Given the description of an element on the screen output the (x, y) to click on. 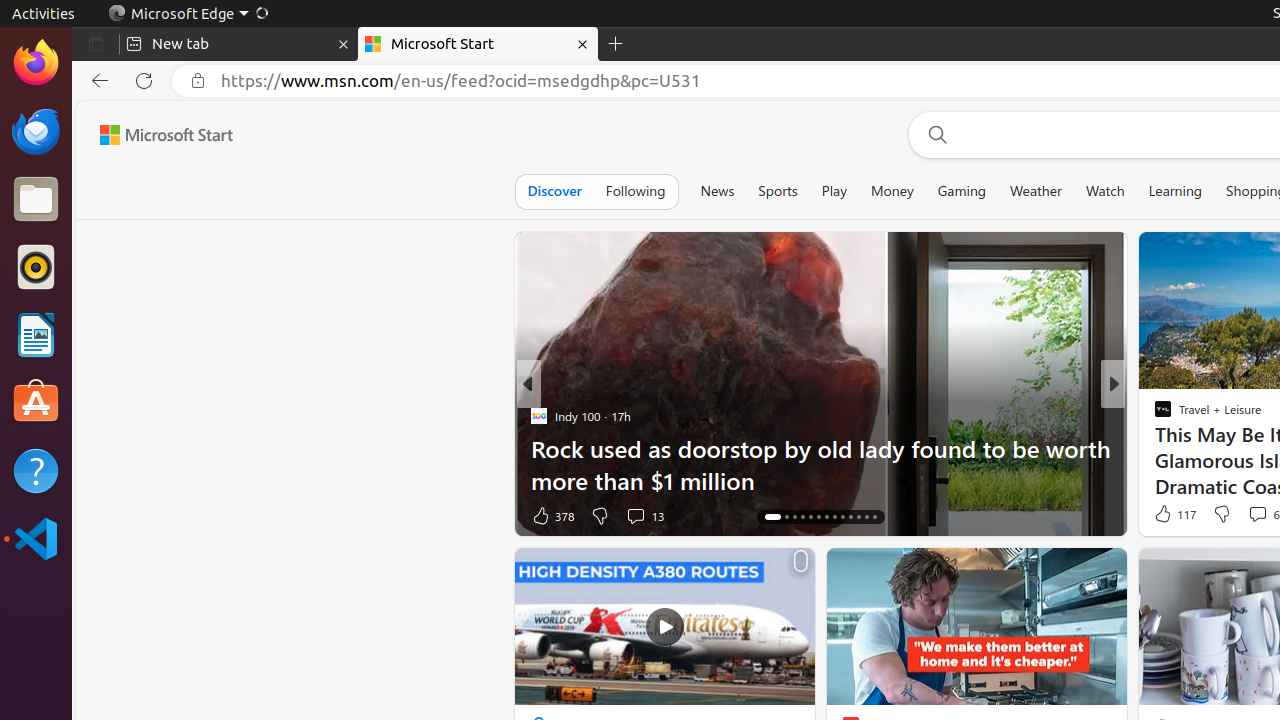
Files Element type: push-button (36, 199)
View comments 62 Comment Element type: push-button (1251, 515)
378 Like Element type: toggle-button (552, 515)
Sports Element type: link (778, 191)
Rhythmbox Element type: push-button (36, 267)
